Given the description of an element on the screen output the (x, y) to click on. 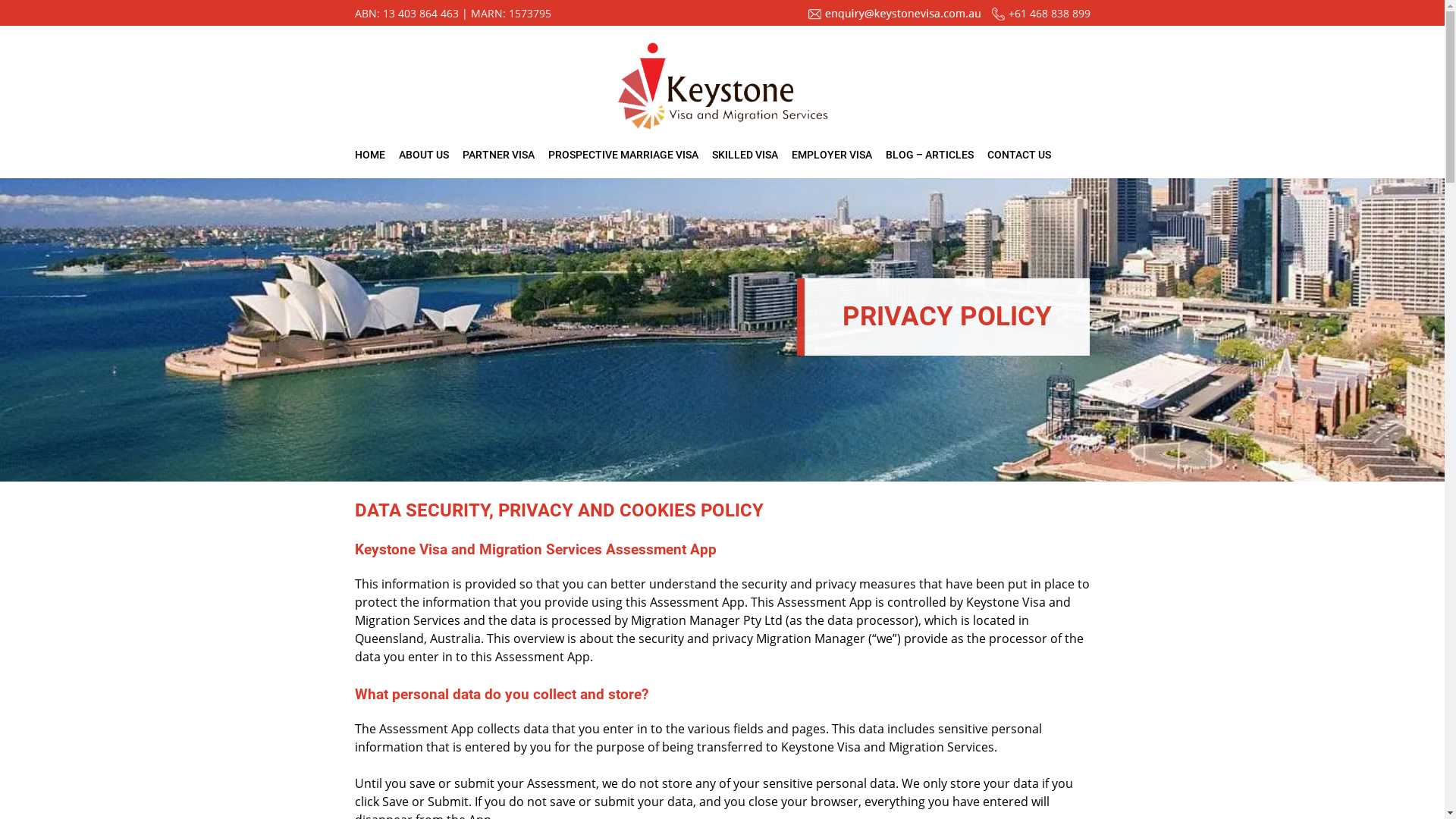
HOME Element type: text (369, 154)
envelope Element type: hover (814, 13)
ABOUT US Element type: text (423, 154)
phone-call Element type: hover (997, 13)
Keystone Visa and Migration Services Element type: hover (722, 85)
+61 468 838 899 Element type: text (1049, 13)
email Element type: hover (903, 13)
CONTACT US Element type: text (1019, 154)
EMPLOYER VISA Element type: text (831, 154)
PARTNER VISA Element type: text (498, 154)
SKILLED VISA Element type: text (744, 154)
PROSPECTIVE MARRIAGE VISA Element type: text (622, 154)
